Given the description of an element on the screen output the (x, y) to click on. 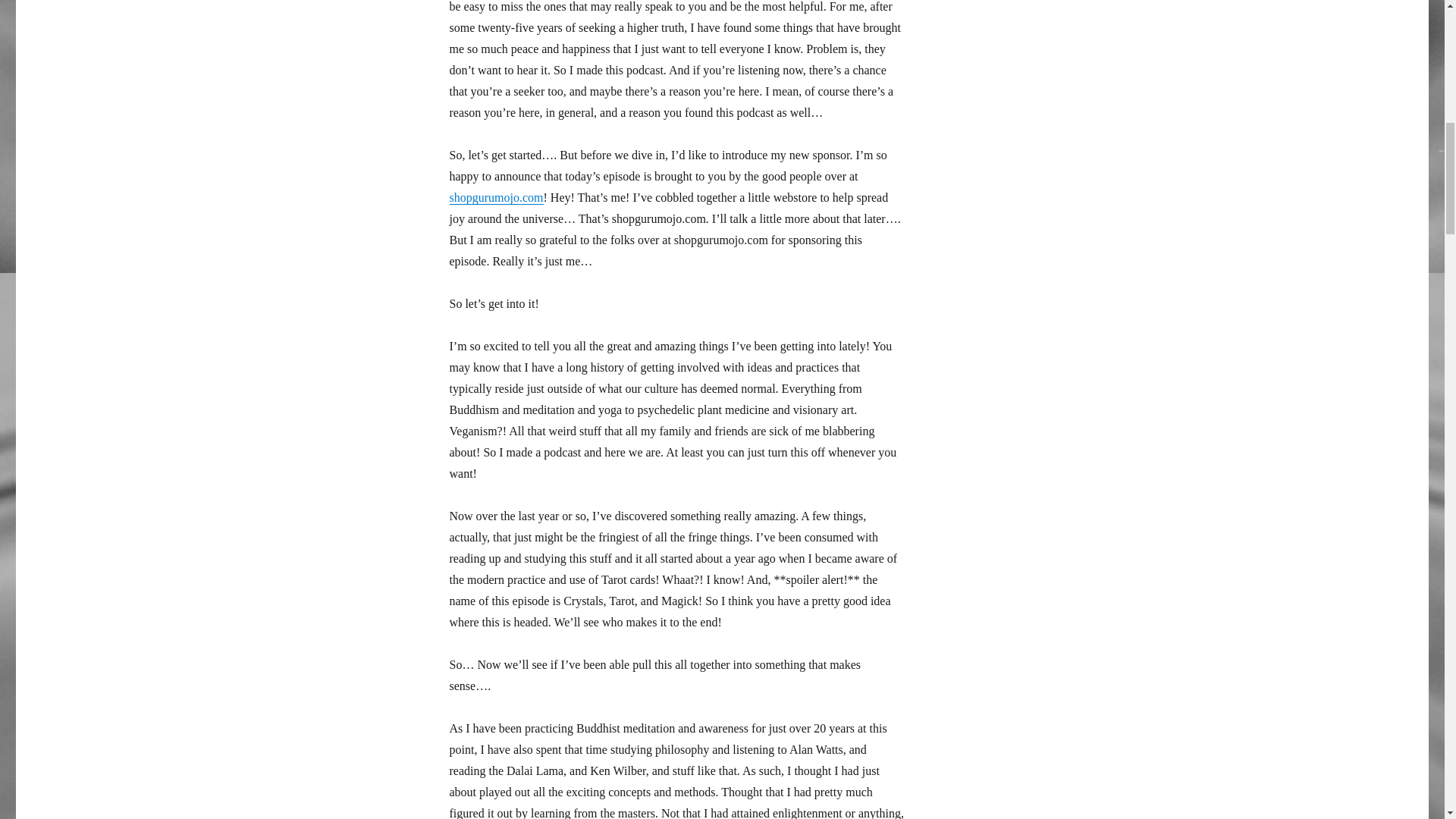
shopgurumojo.com (495, 196)
